Given the description of an element on the screen output the (x, y) to click on. 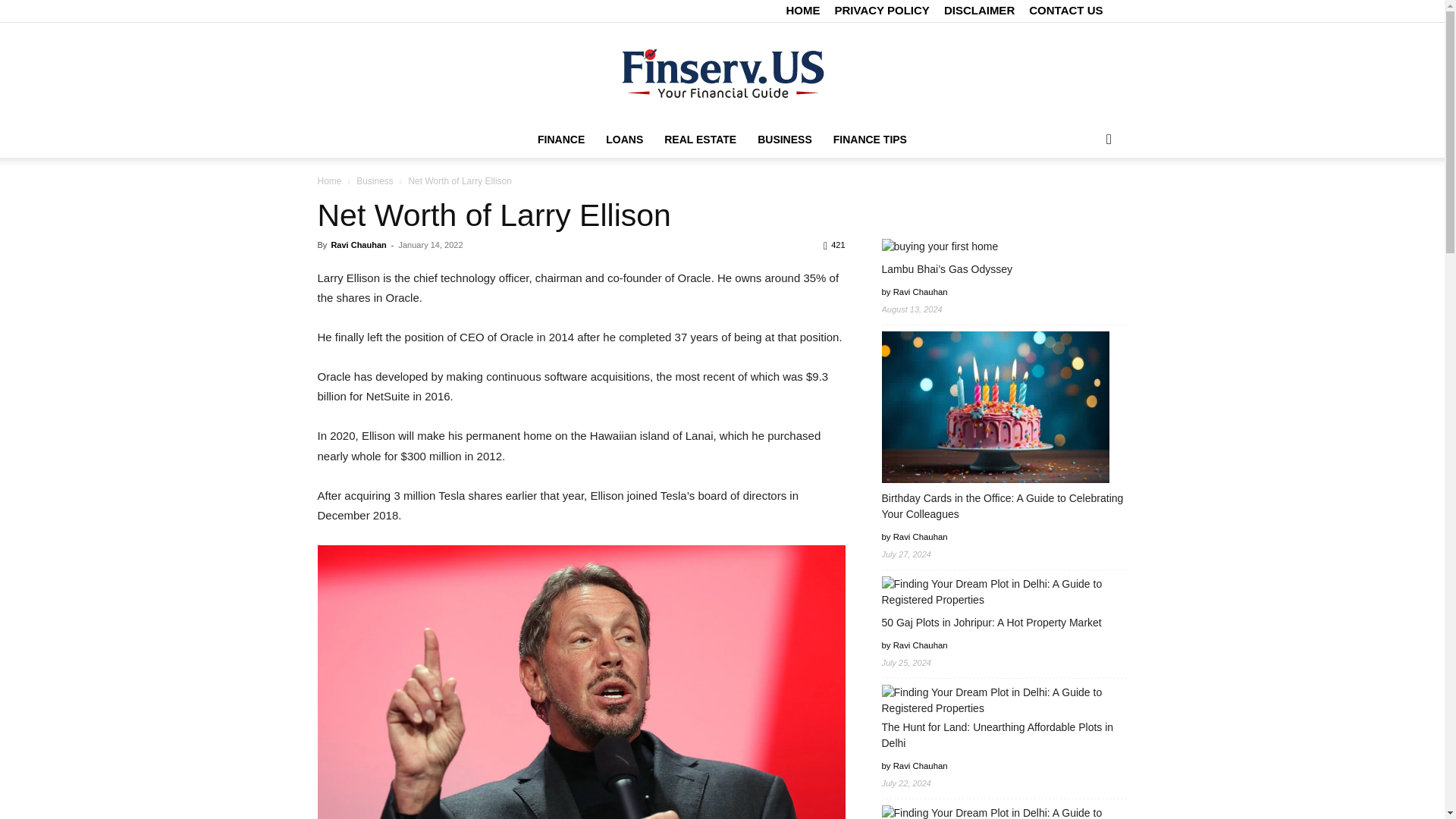
REAL ESTATE (699, 139)
Ravi Chauhan (357, 244)
CONTACT US (1065, 10)
DISCLAIMER (978, 10)
LOANS (624, 139)
FINANCE TIPS (869, 139)
HOME (802, 10)
Lambu Bhai's Gas Odyssey (938, 246)
Search (1085, 200)
